Given the description of an element on the screen output the (x, y) to click on. 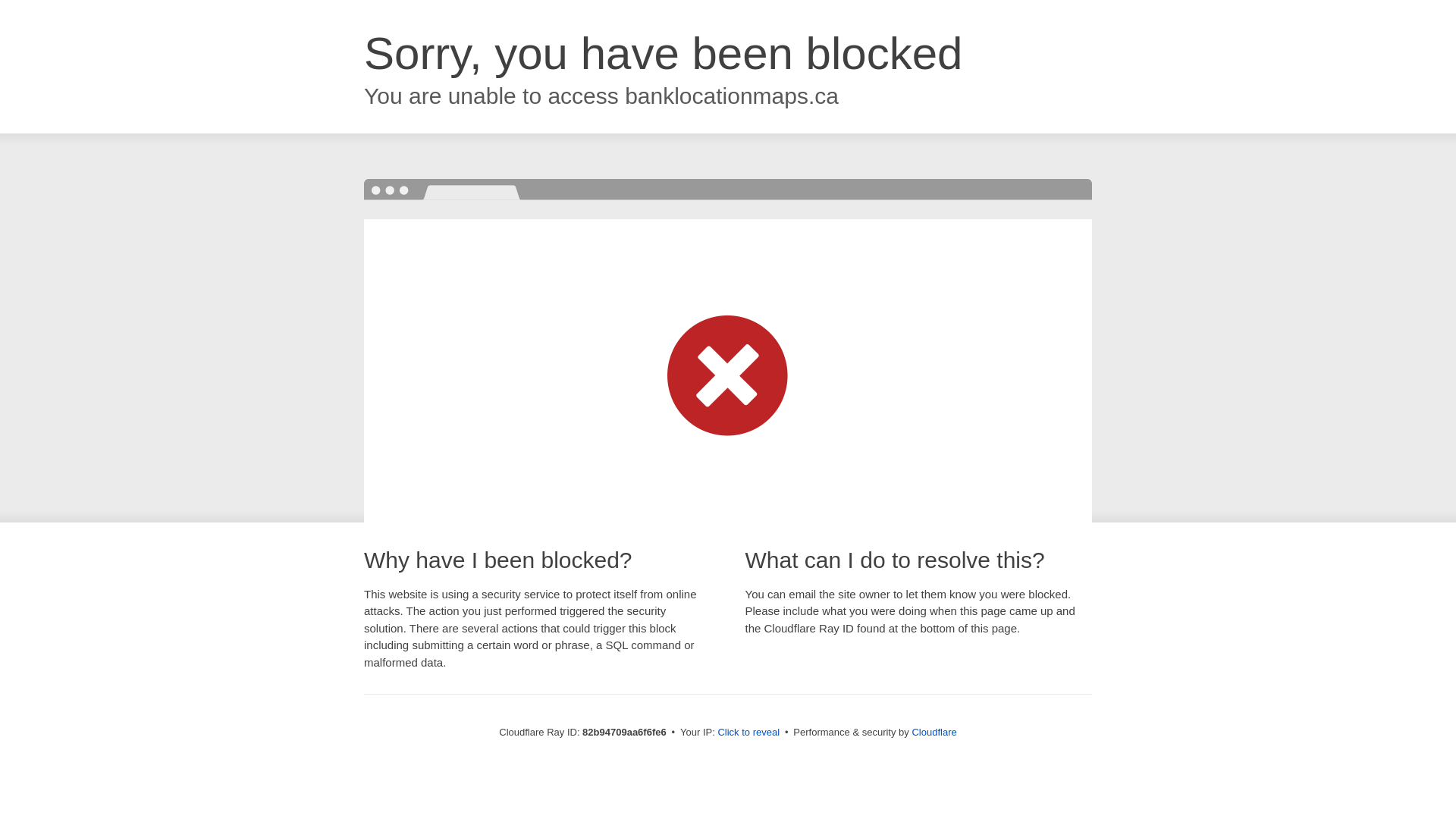
Click to reveal Element type: text (748, 732)
Cloudflare Element type: text (933, 731)
